Given the description of an element on the screen output the (x, y) to click on. 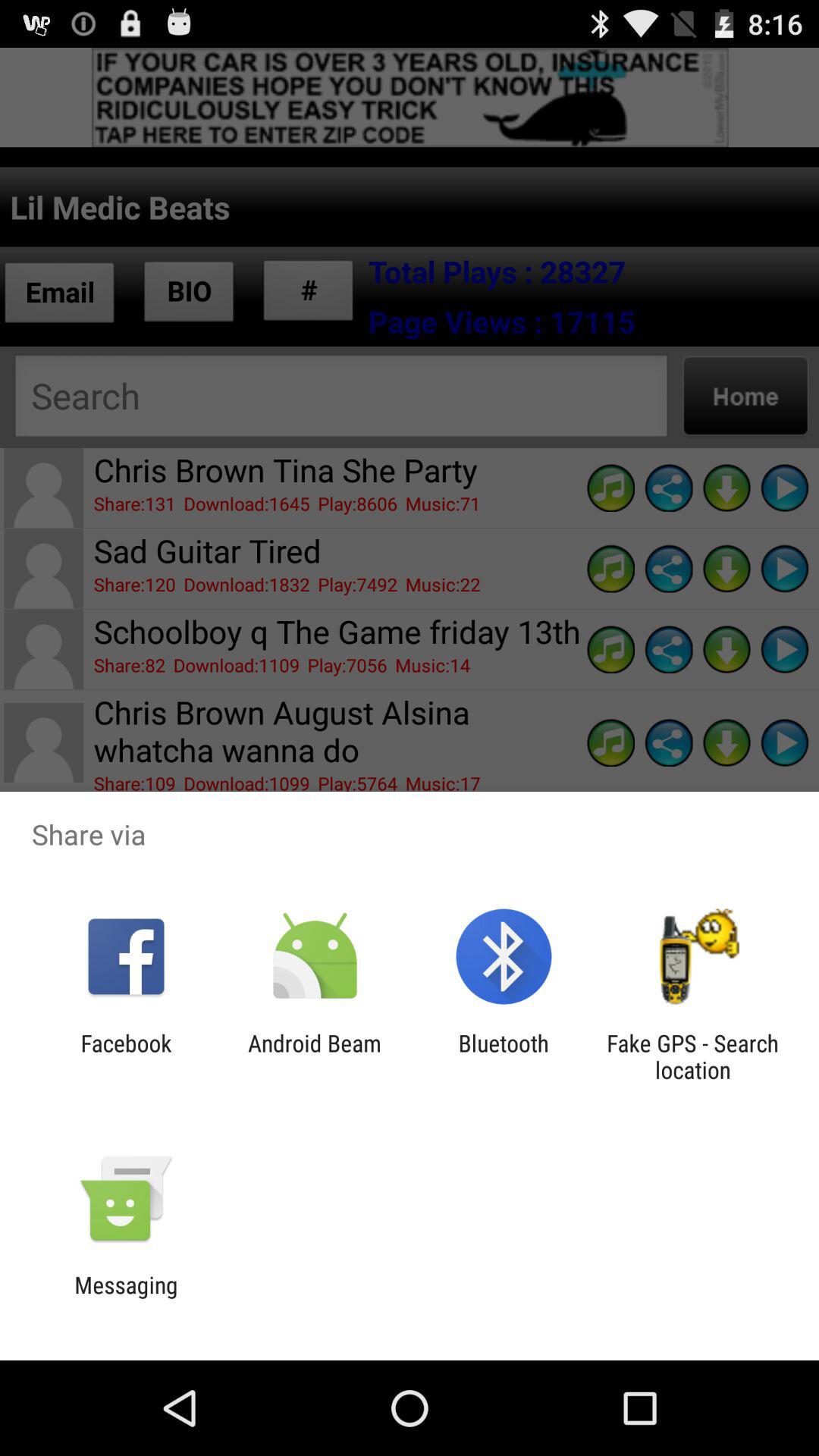
choose the messaging app (126, 1298)
